Given the description of an element on the screen output the (x, y) to click on. 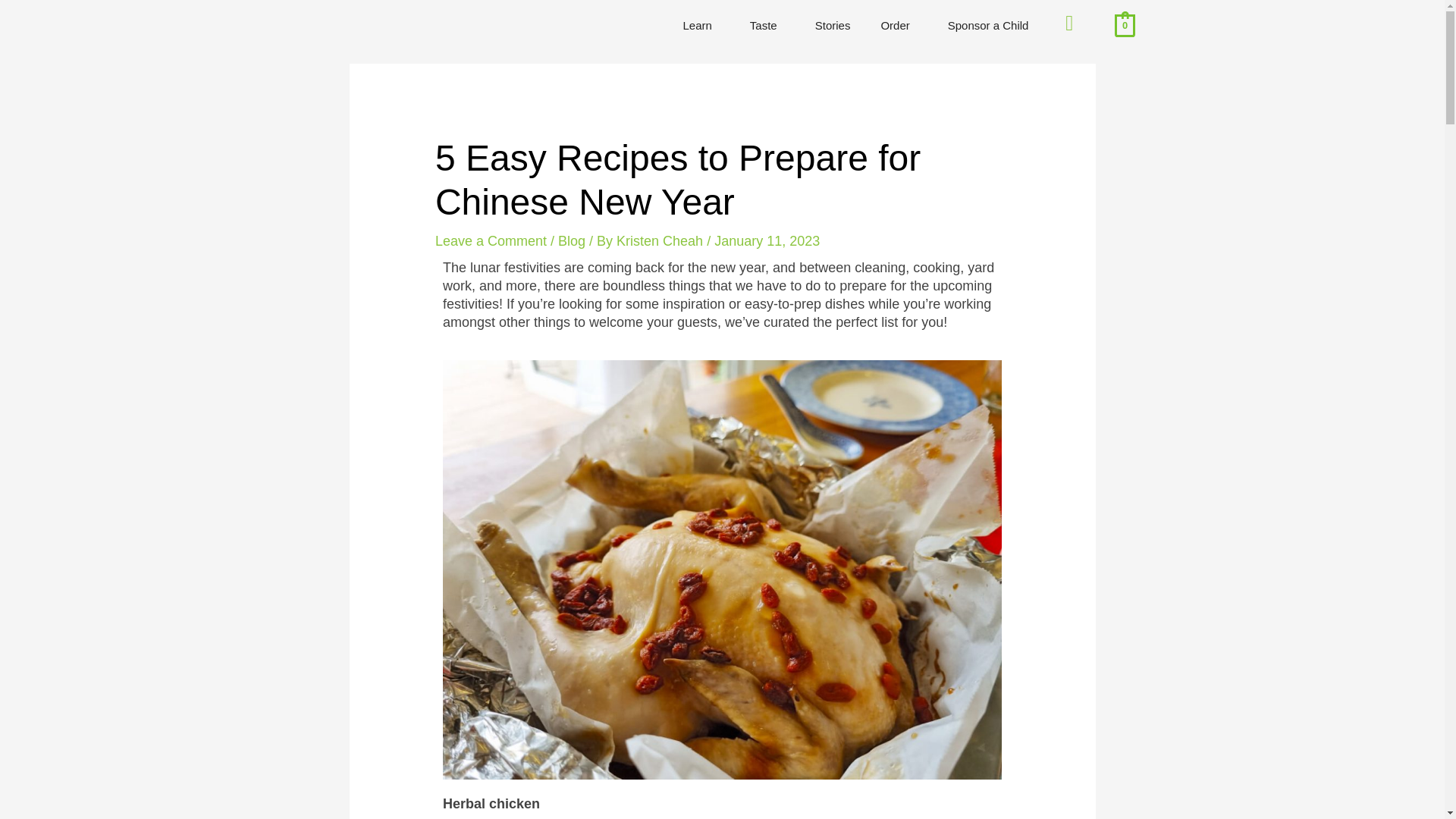
Sponsor a Child (988, 25)
Learn (699, 25)
View all posts by Kristen Cheah (660, 240)
0 (1125, 24)
Taste (767, 25)
Order (897, 25)
View your shopping cart (1125, 24)
Stories (832, 25)
